Given the description of an element on the screen output the (x, y) to click on. 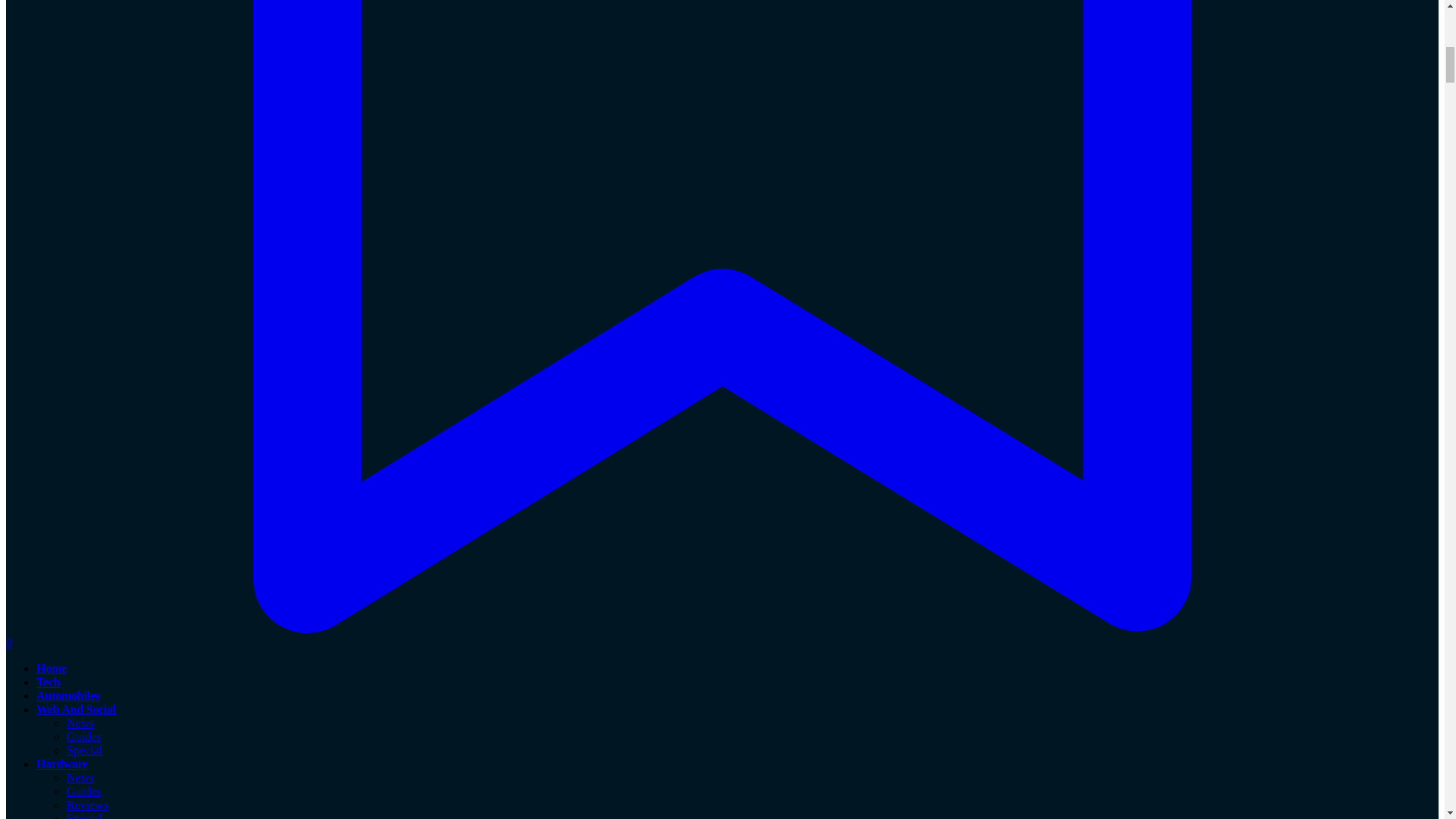
Automobiles (67, 695)
Tech (47, 681)
Guides (83, 736)
Guides (83, 790)
News (80, 722)
Home (51, 667)
Special (83, 815)
News (80, 777)
Hardware (61, 763)
Special (83, 749)
